Given the description of an element on the screen output the (x, y) to click on. 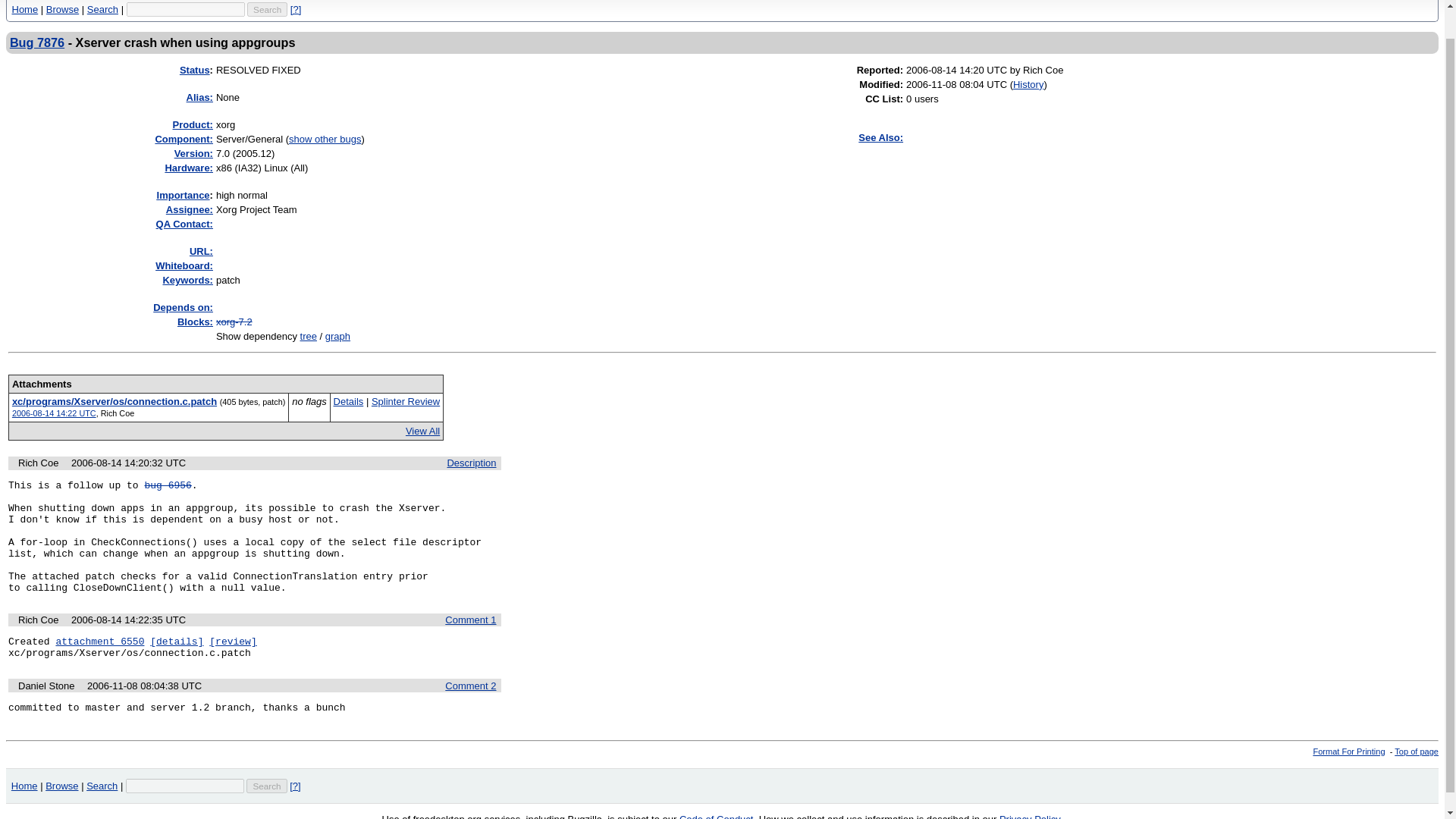
Description (471, 462)
graph (337, 336)
Search (266, 8)
View All (422, 430)
Quicksearch Help (295, 8)
Comment 1 (470, 619)
Product: (192, 124)
The person in charge of resolving the bug. (188, 209)
